Given the description of an element on the screen output the (x, y) to click on. 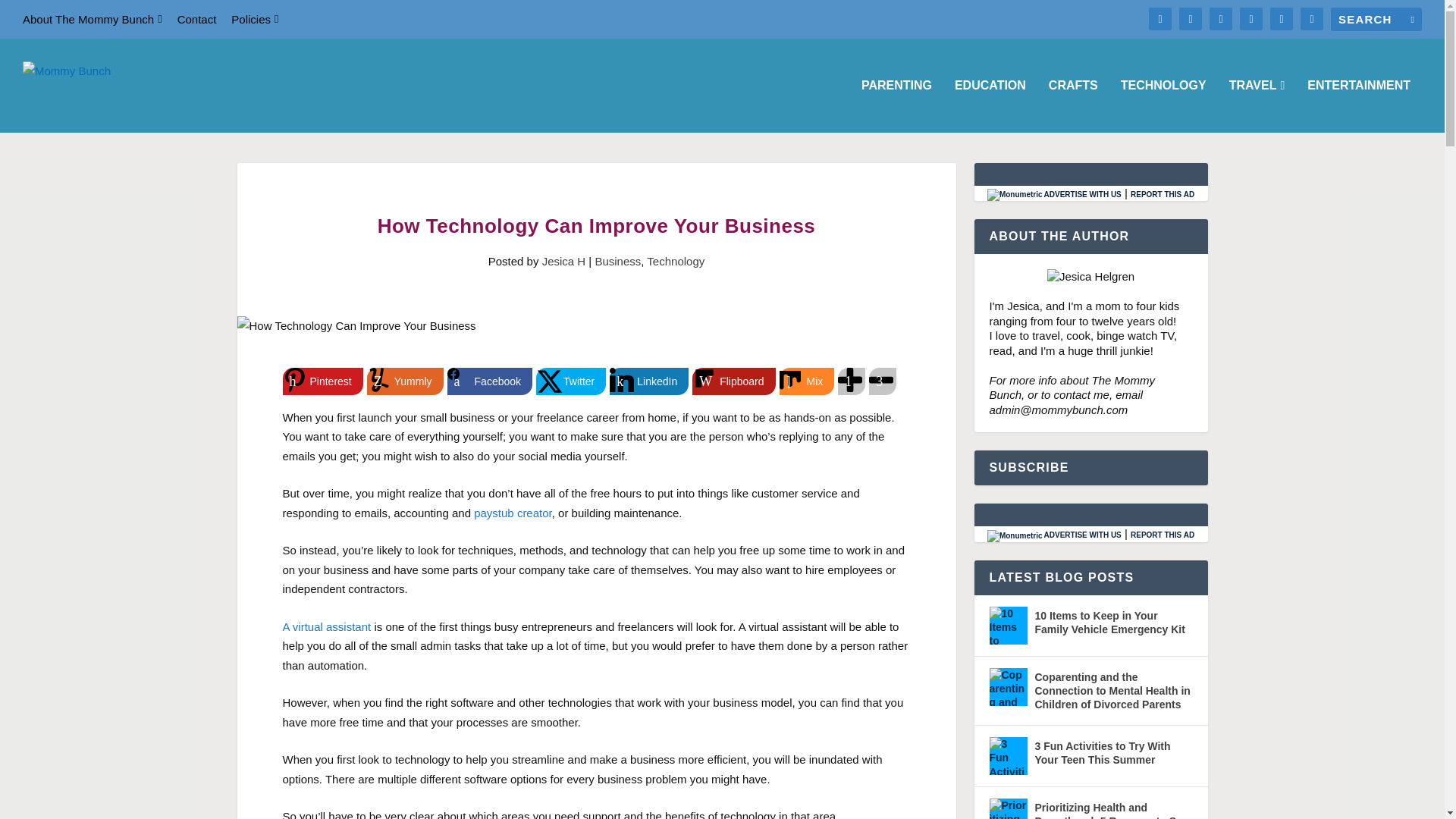
TECHNOLOGY (1164, 105)
Policies (254, 19)
Jesica H (563, 260)
Share on Twitter (570, 380)
Technology (675, 260)
Yummly (405, 380)
Contact (196, 19)
CRAFTS (1072, 105)
Share on Mix (806, 380)
Flipboard (733, 380)
